Given the description of an element on the screen output the (x, y) to click on. 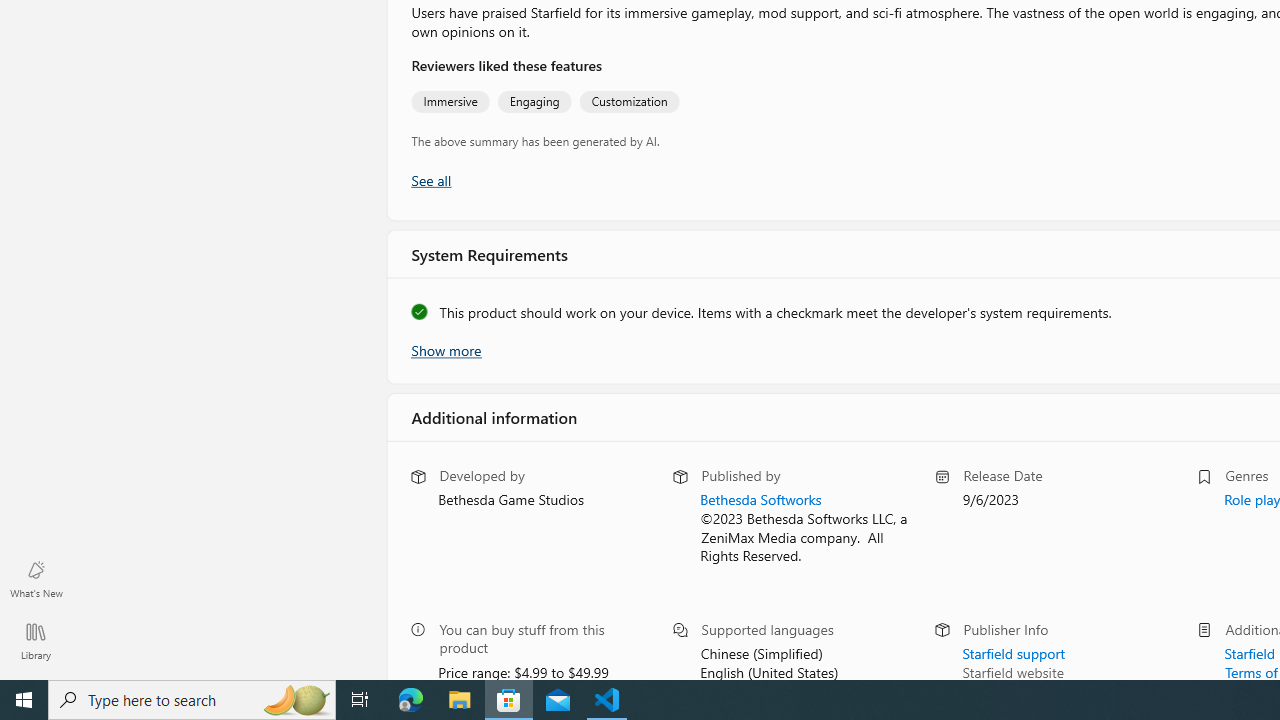
Show all ratings and reviews (430, 179)
Show more (445, 348)
Starfield website (1012, 669)
Starfield support (1012, 651)
Bethesda Softworks (760, 499)
